Given the description of an element on the screen output the (x, y) to click on. 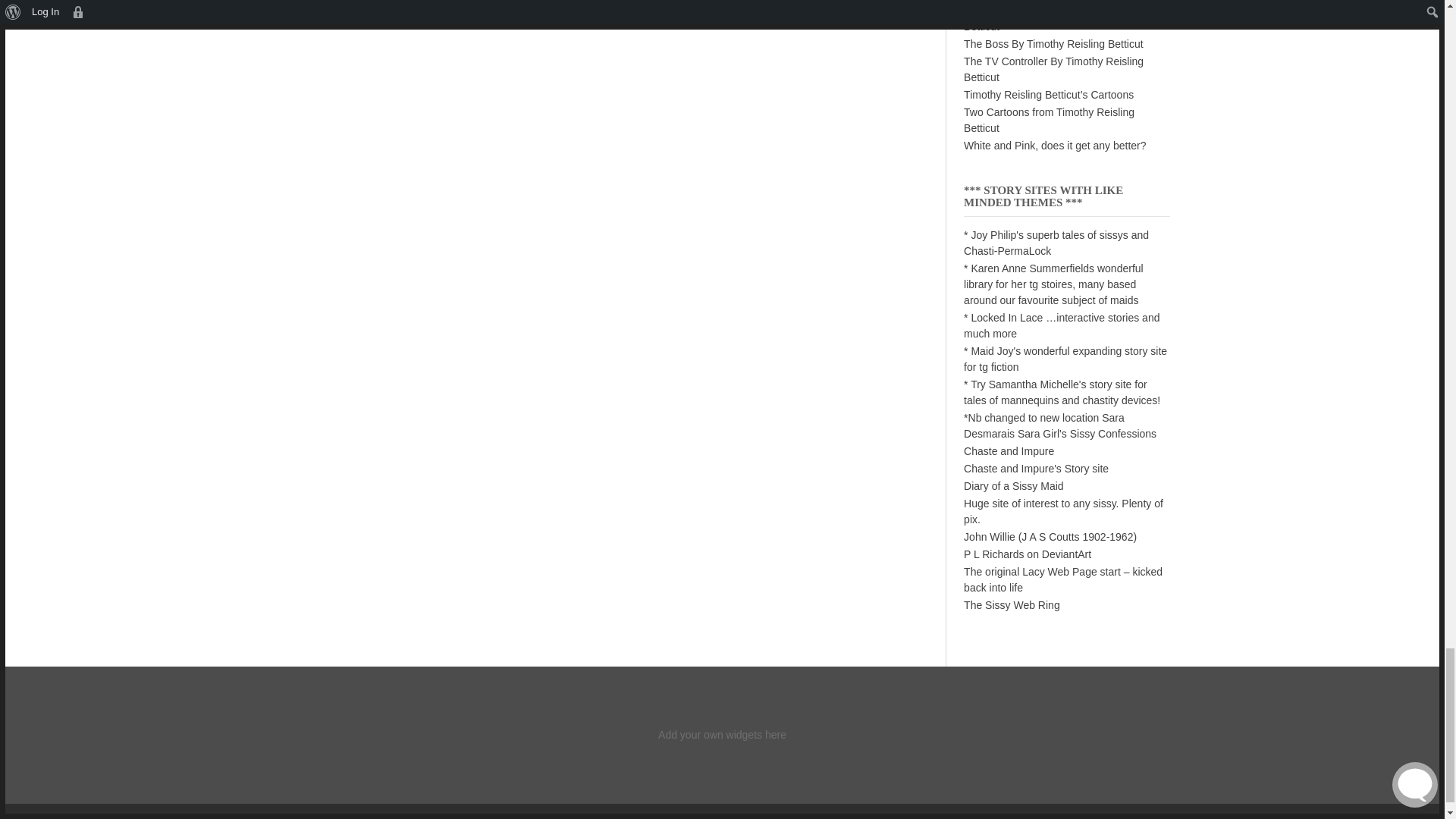
The amazing pictures and stories from John Willie (1050, 536)
a new site to host an established and gifted writer (1052, 284)
